Given the description of an element on the screen output the (x, y) to click on. 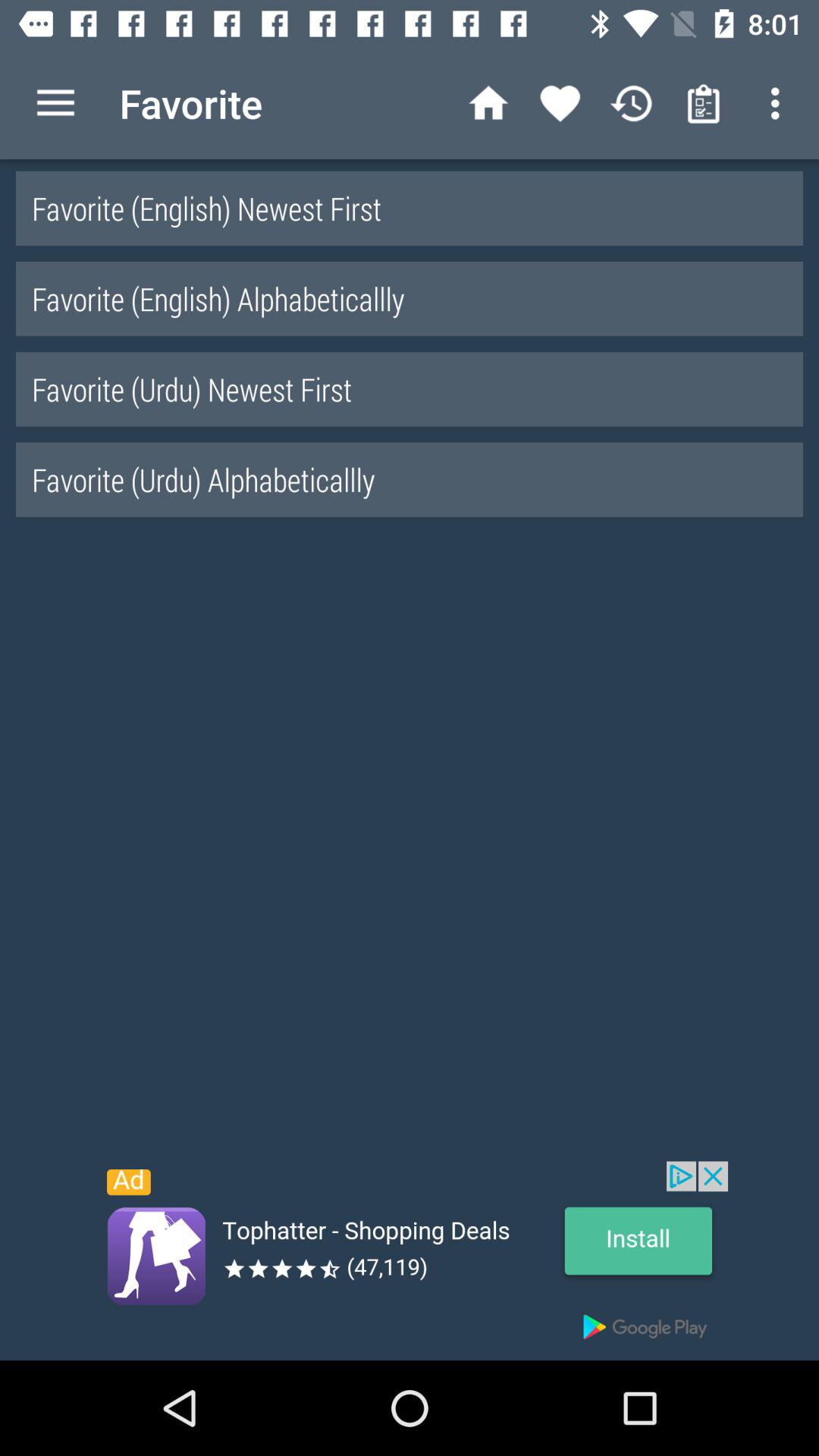
open advertisement (409, 1260)
